Given the description of an element on the screen output the (x, y) to click on. 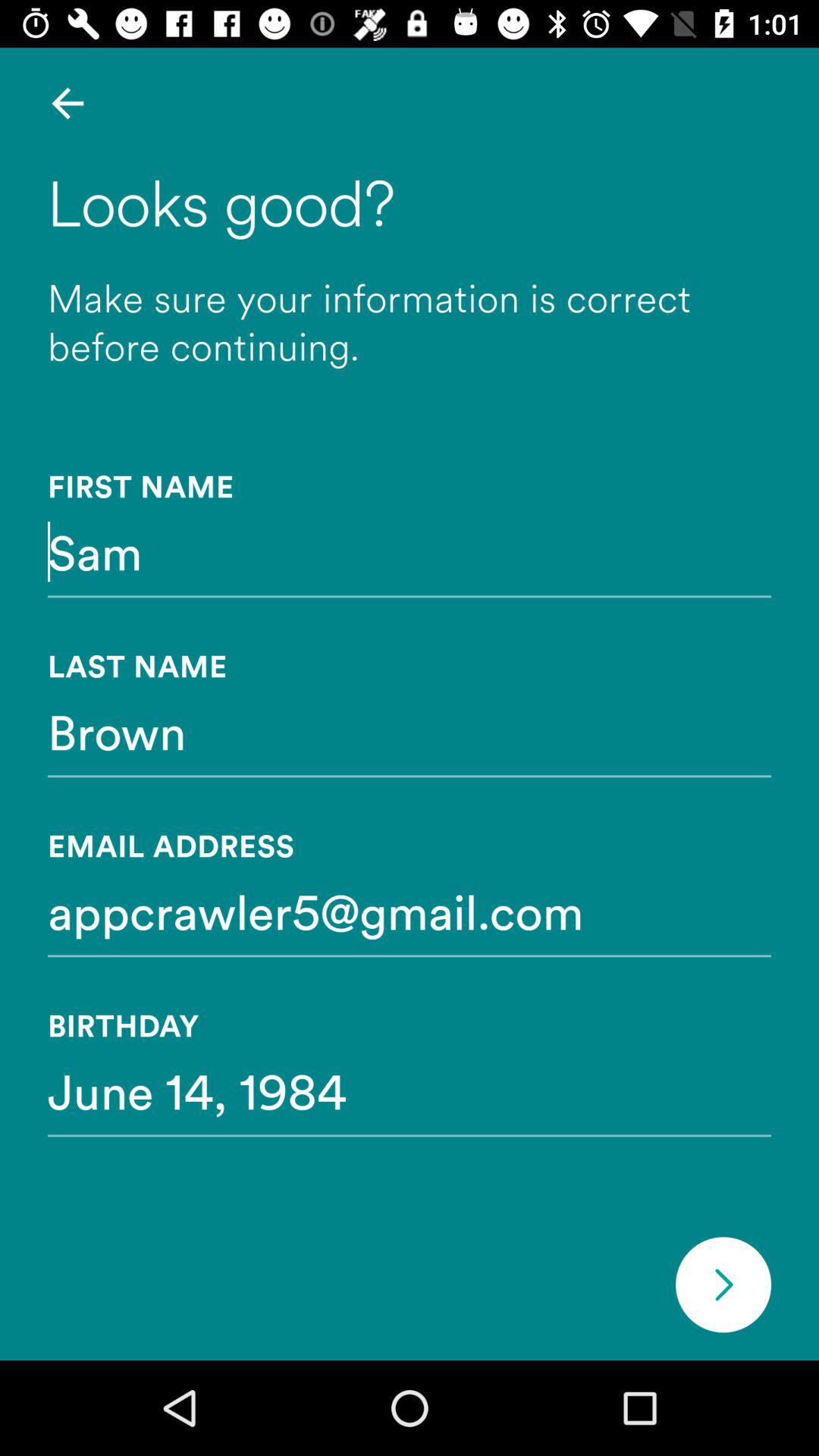
turn off the icon below the first name icon (409, 551)
